Given the description of an element on the screen output the (x, y) to click on. 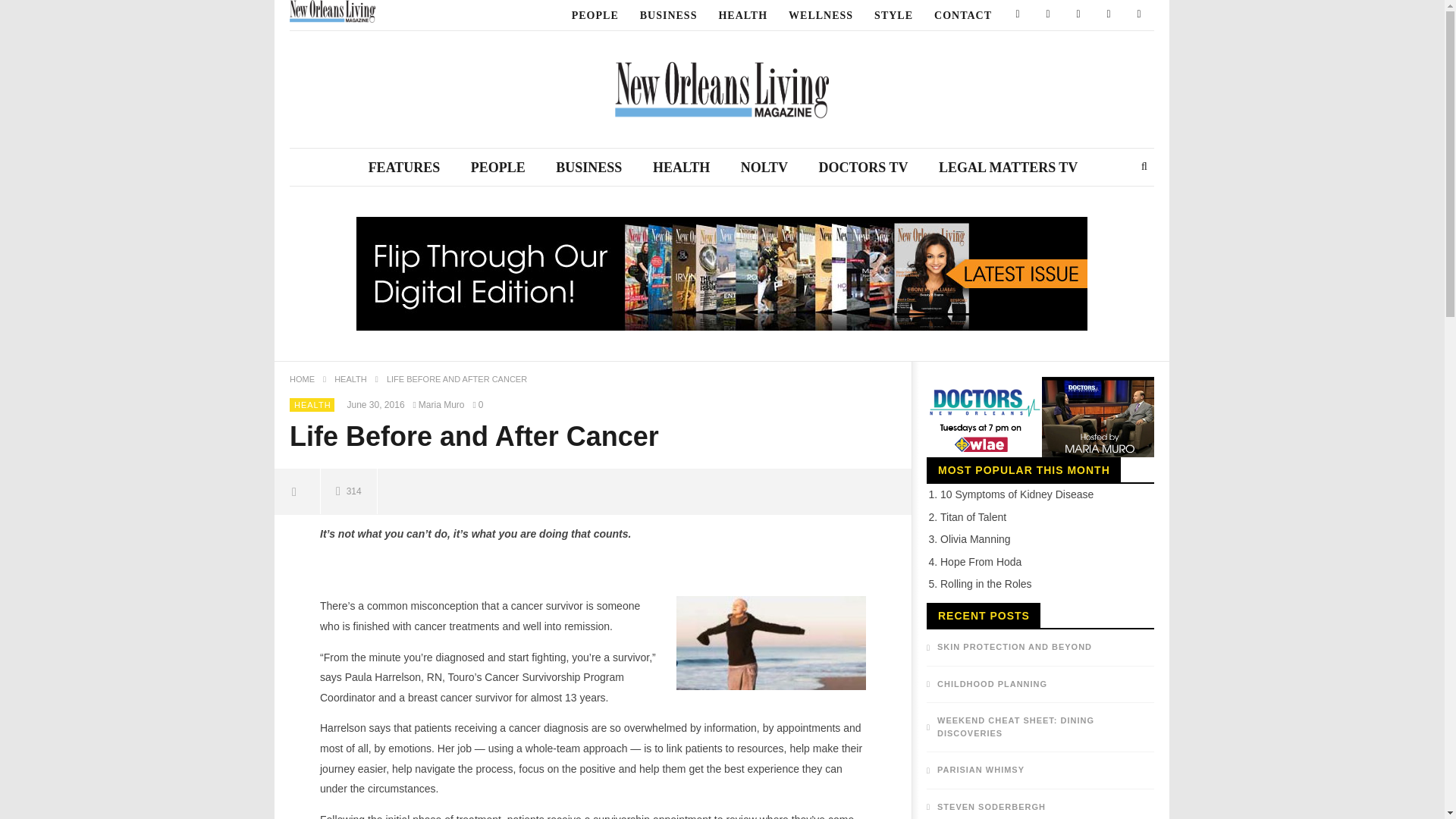
View all posts in HEALTH (312, 404)
WELLNESS (820, 15)
Instagram (1108, 15)
STYLE (893, 15)
Twitter (1047, 15)
BUSINESS (667, 15)
Facebook (1017, 15)
Posts by Maria Muro (440, 404)
HEALTH (742, 15)
Vimeo (1139, 15)
